Given the description of an element on the screen output the (x, y) to click on. 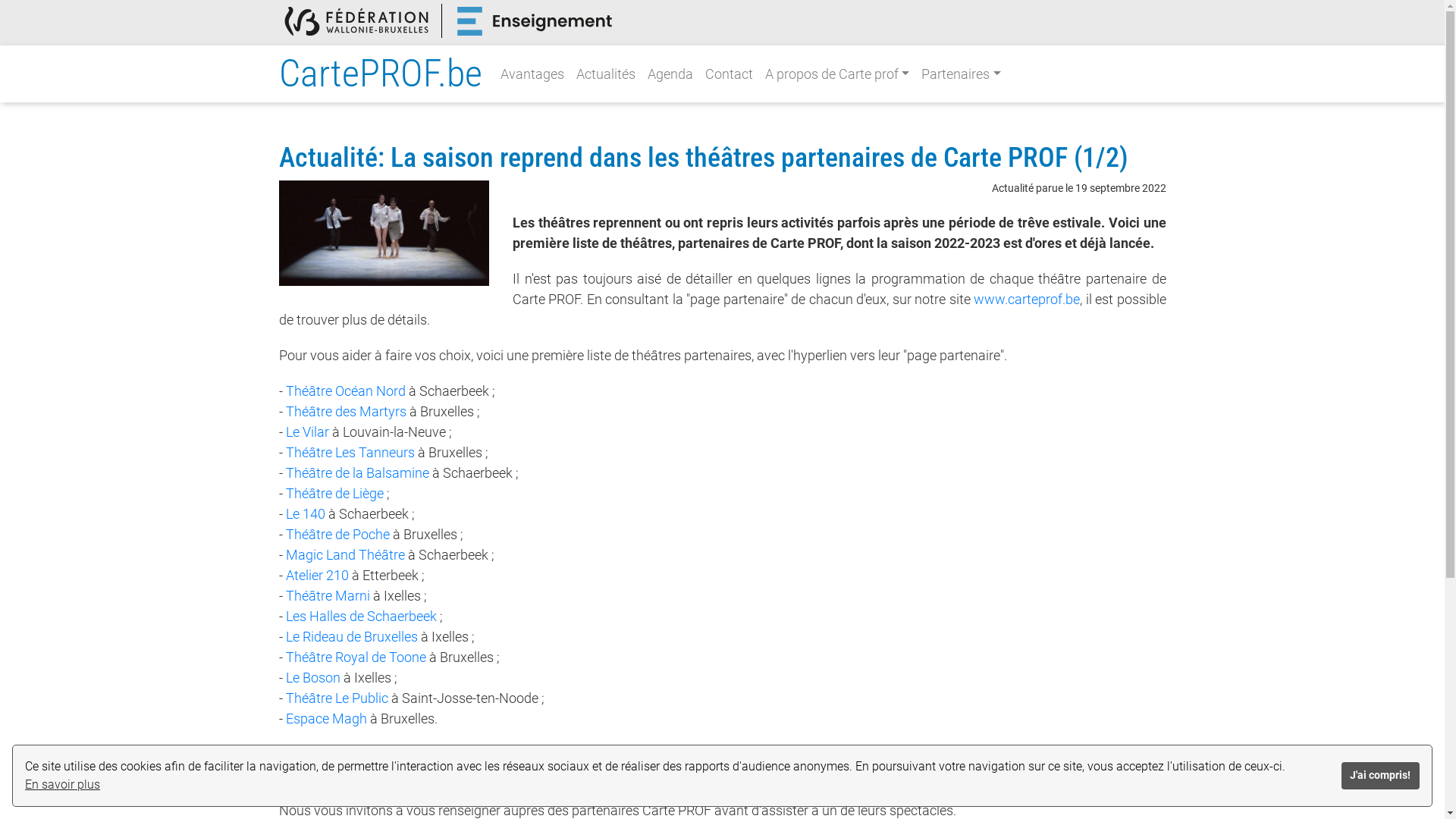
Les Halles de Schaerbeek Element type: text (360, 616)
Atelier 210 Element type: text (316, 575)
www.carteprof.be Element type: text (1026, 299)
Le Vilar Element type: text (306, 431)
Espace Magh Element type: text (325, 718)
Avantages Element type: text (532, 73)
Le 140 Element type: text (304, 513)
Le Rideau de Bruxelles Element type: text (351, 636)
A propos de Carte prof Element type: text (836, 73)
Agenda Element type: text (670, 73)
J'ai compris! Element type: text (1380, 775)
Le Boson Element type: text (312, 677)
En savoir plus Element type: text (62, 784)
Contact Element type: text (729, 73)
Partenaires Element type: text (961, 73)
CartePROF.be Element type: text (380, 73)
